Given the description of an element on the screen output the (x, y) to click on. 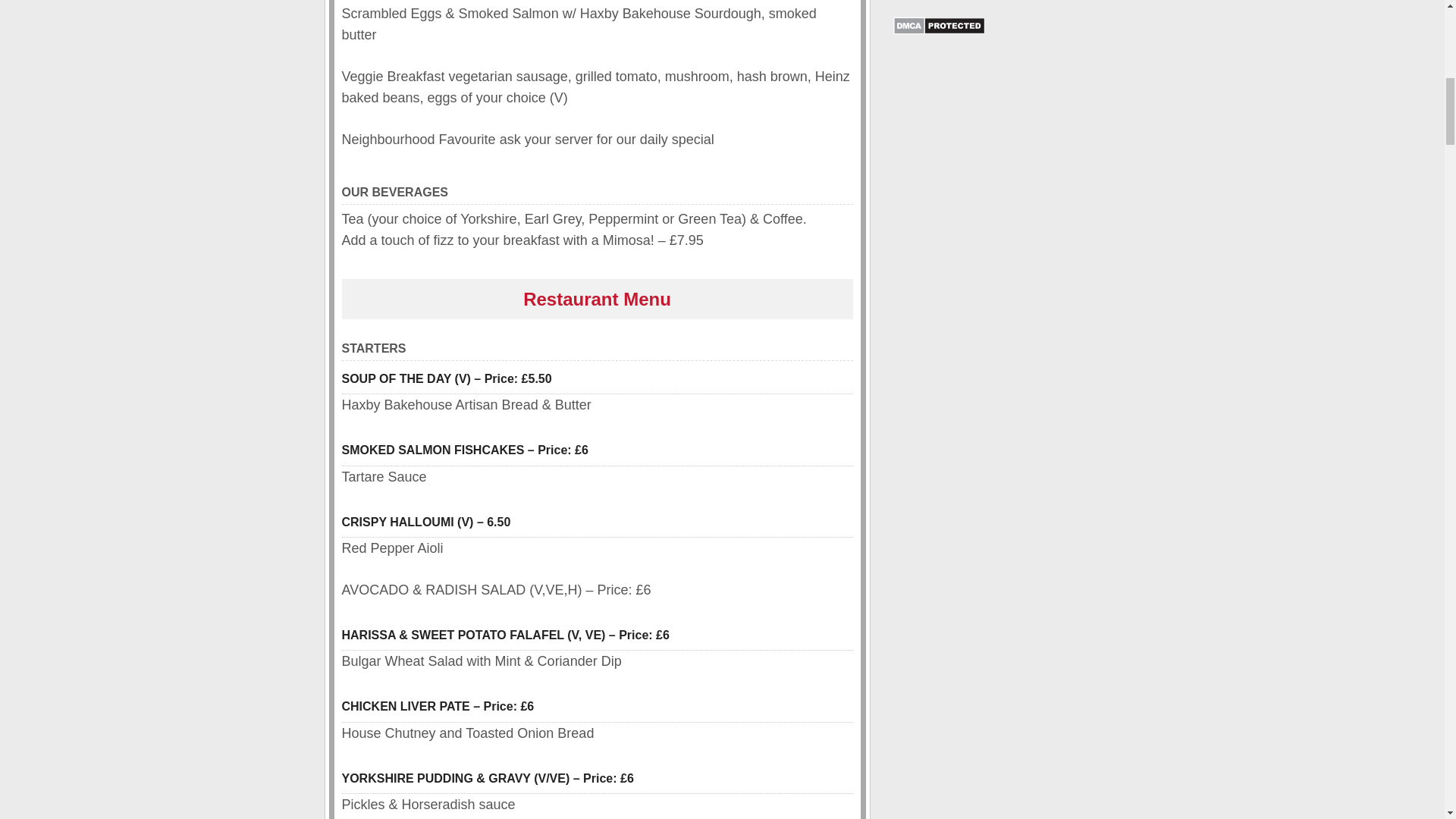
DMCA.com Protection Status (939, 30)
